Given the description of an element on the screen output the (x, y) to click on. 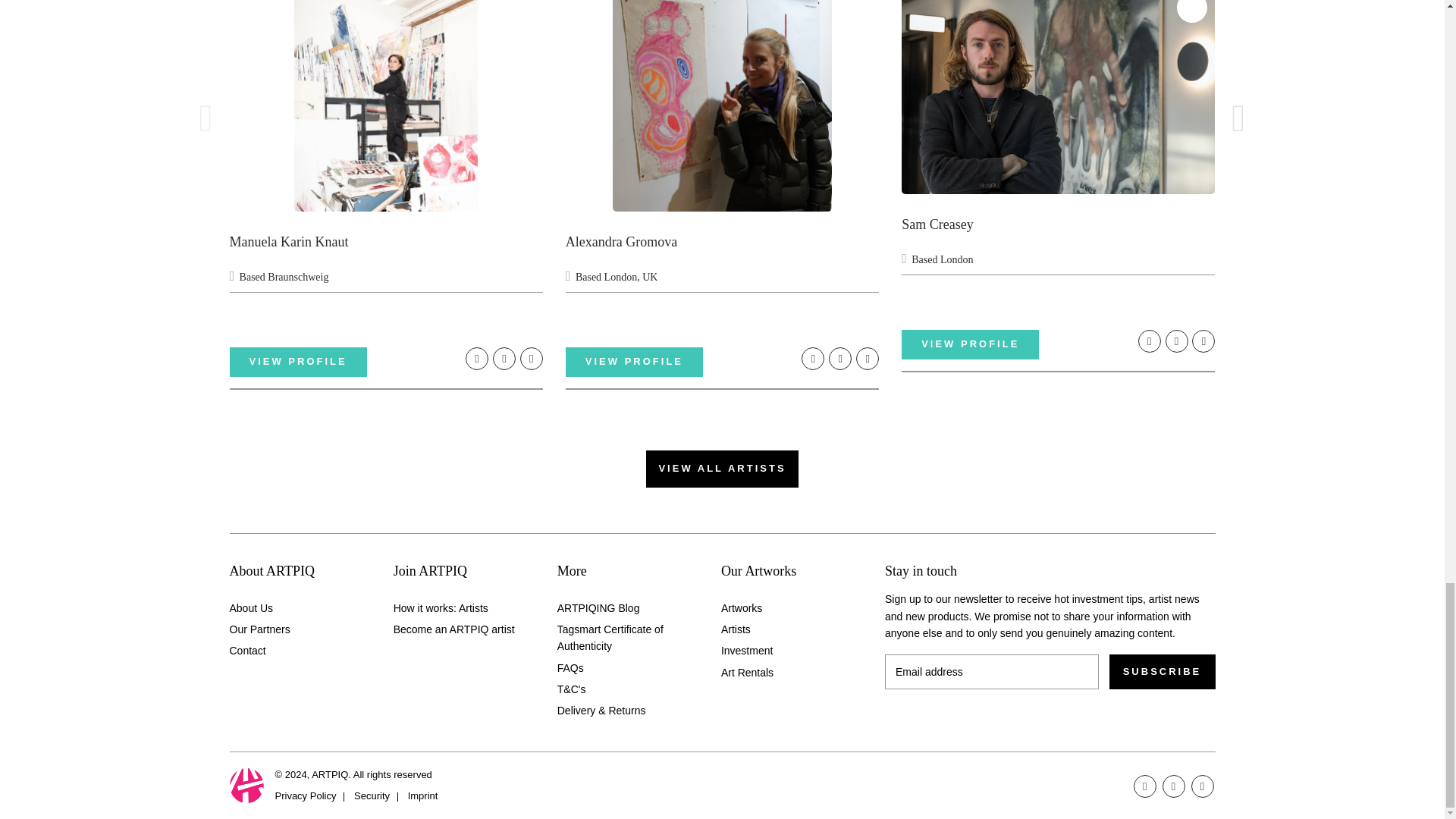
Share on Facebook (813, 358)
Pin on Pinterest (531, 358)
Pin on Pinterest (867, 358)
Tweet on Twitter (504, 358)
Share on Facebook (1149, 341)
Share on Facebook (476, 358)
Tweet on Twitter (839, 358)
